Given the description of an element on the screen output the (x, y) to click on. 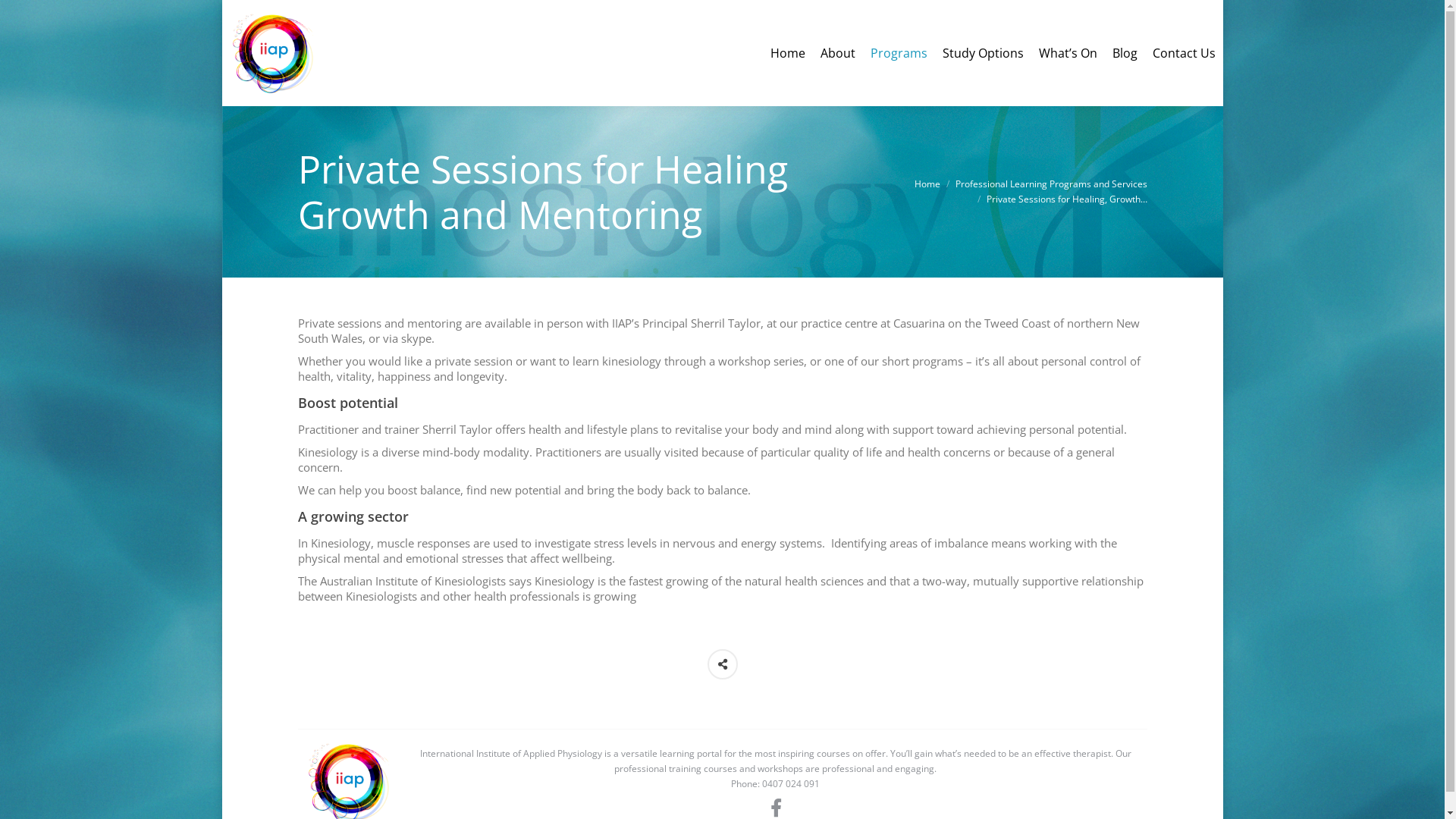
Study Options Element type: text (982, 52)
Home Element type: text (787, 52)
Home Element type: text (927, 183)
Blog Element type: text (1124, 52)
Contact Us Element type: text (1184, 52)
Professional Learning Programs and Services Element type: text (1051, 183)
About Element type: text (837, 52)
Programs Element type: text (898, 52)
